Given the description of an element on the screen output the (x, y) to click on. 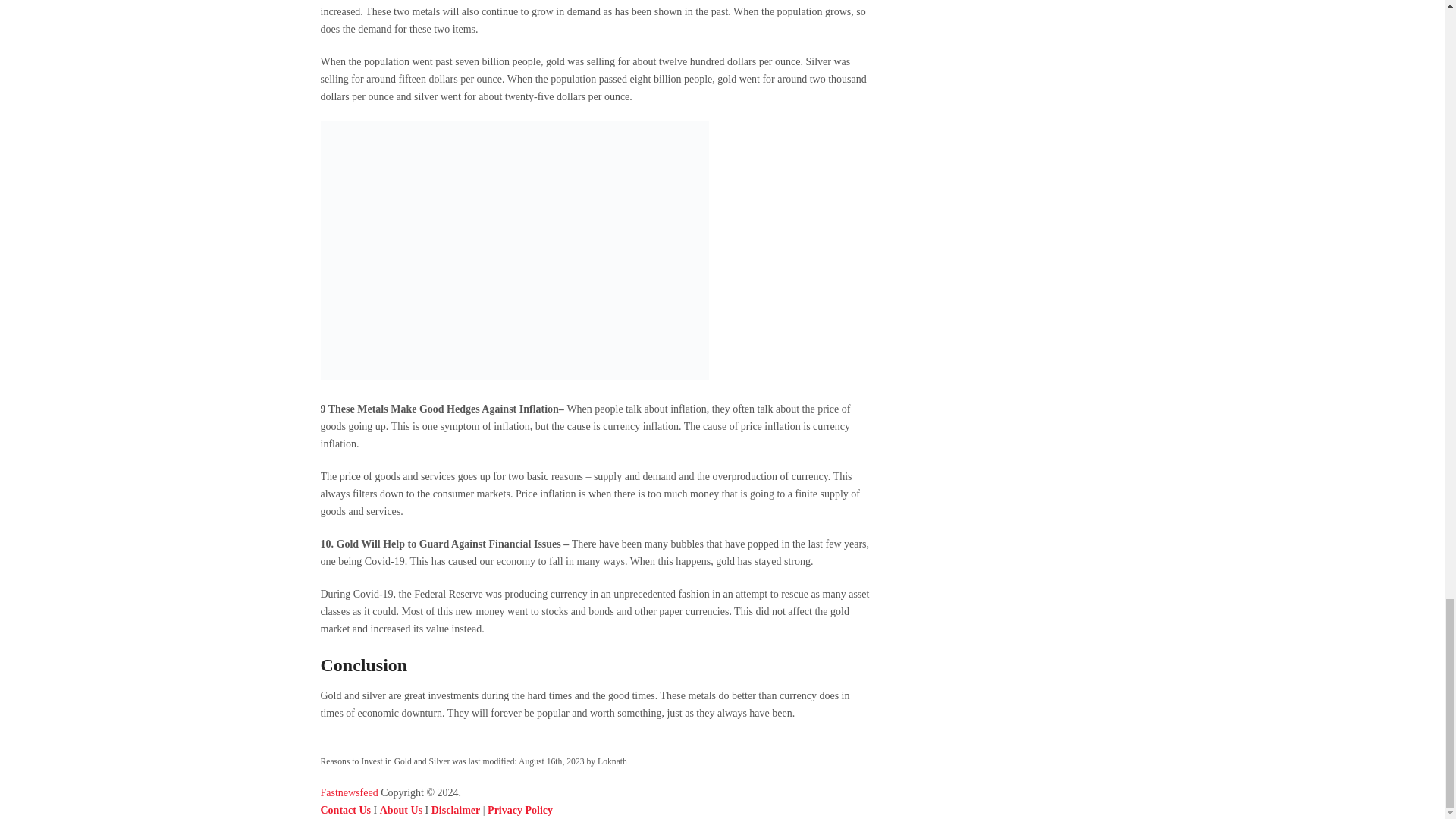
Disclaimer (455, 809)
Privacy Policy (520, 809)
Fast News Feed (348, 792)
Contact Us (345, 809)
Fastnewsfeed (348, 792)
About Us (401, 809)
